Given the description of an element on the screen output the (x, y) to click on. 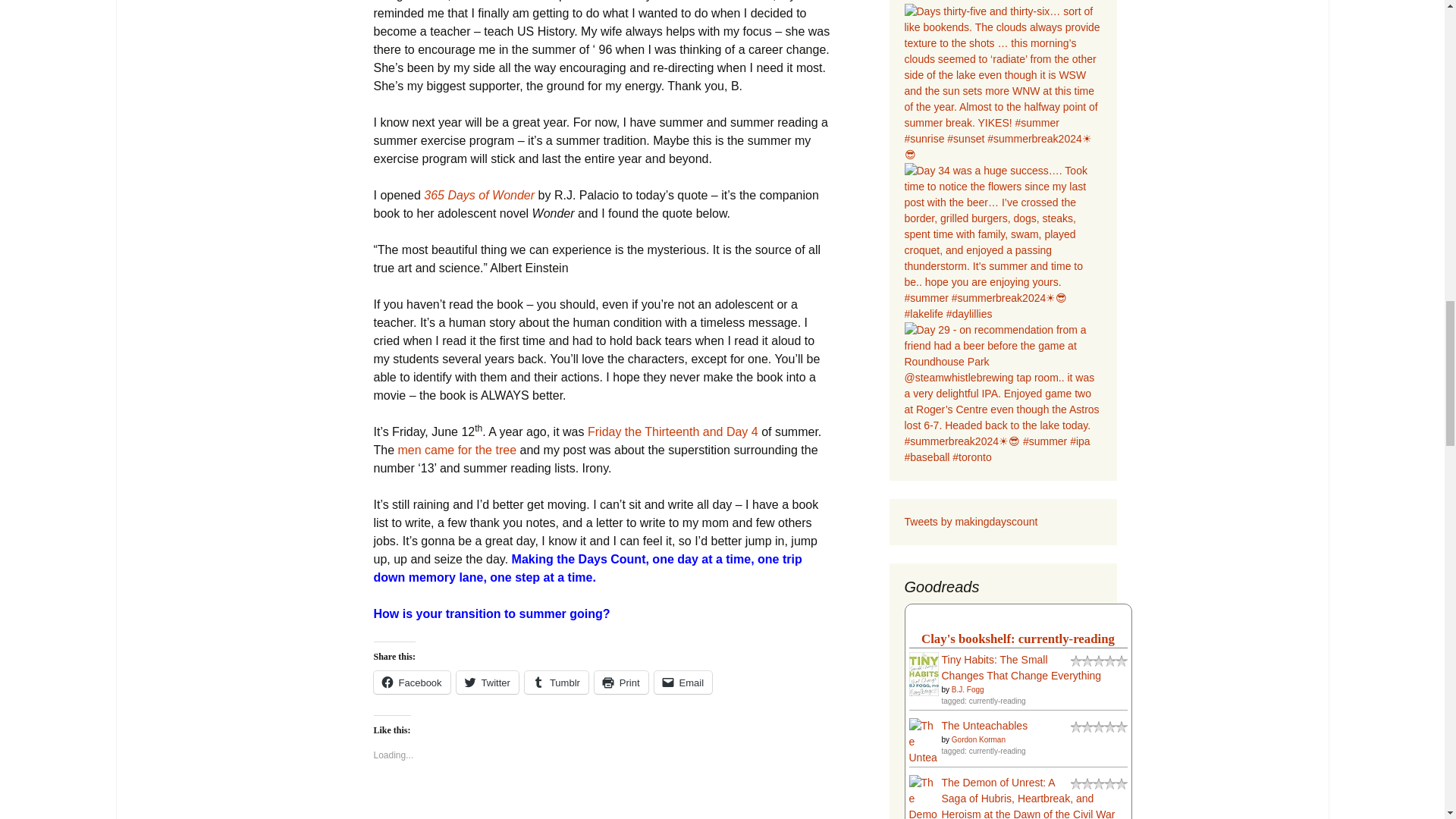
Click to share on Twitter (487, 681)
Tiny Habits: The Small Changes That Change Everything (922, 673)
Click to email a link to a friend (683, 681)
365 Days of Wonder (480, 195)
Friday the Thirteenth and Day 4 (673, 431)
Click to share on Tumblr (556, 681)
Click to share on Facebook (410, 681)
Click to print (620, 681)
The Unteachables (922, 756)
